Given the description of an element on the screen output the (x, y) to click on. 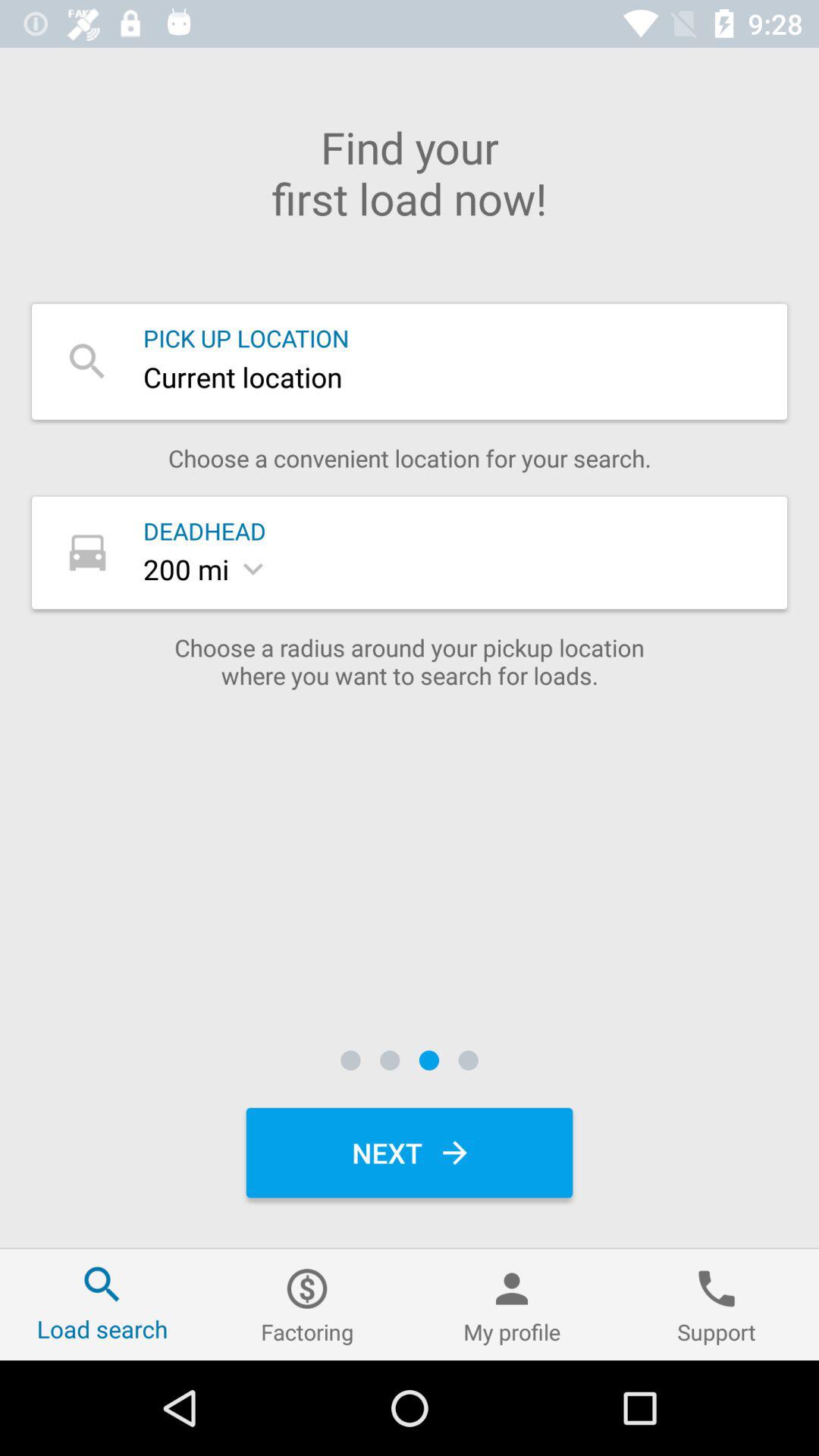
tap icon next to support item (511, 1304)
